Given the description of an element on the screen output the (x, y) to click on. 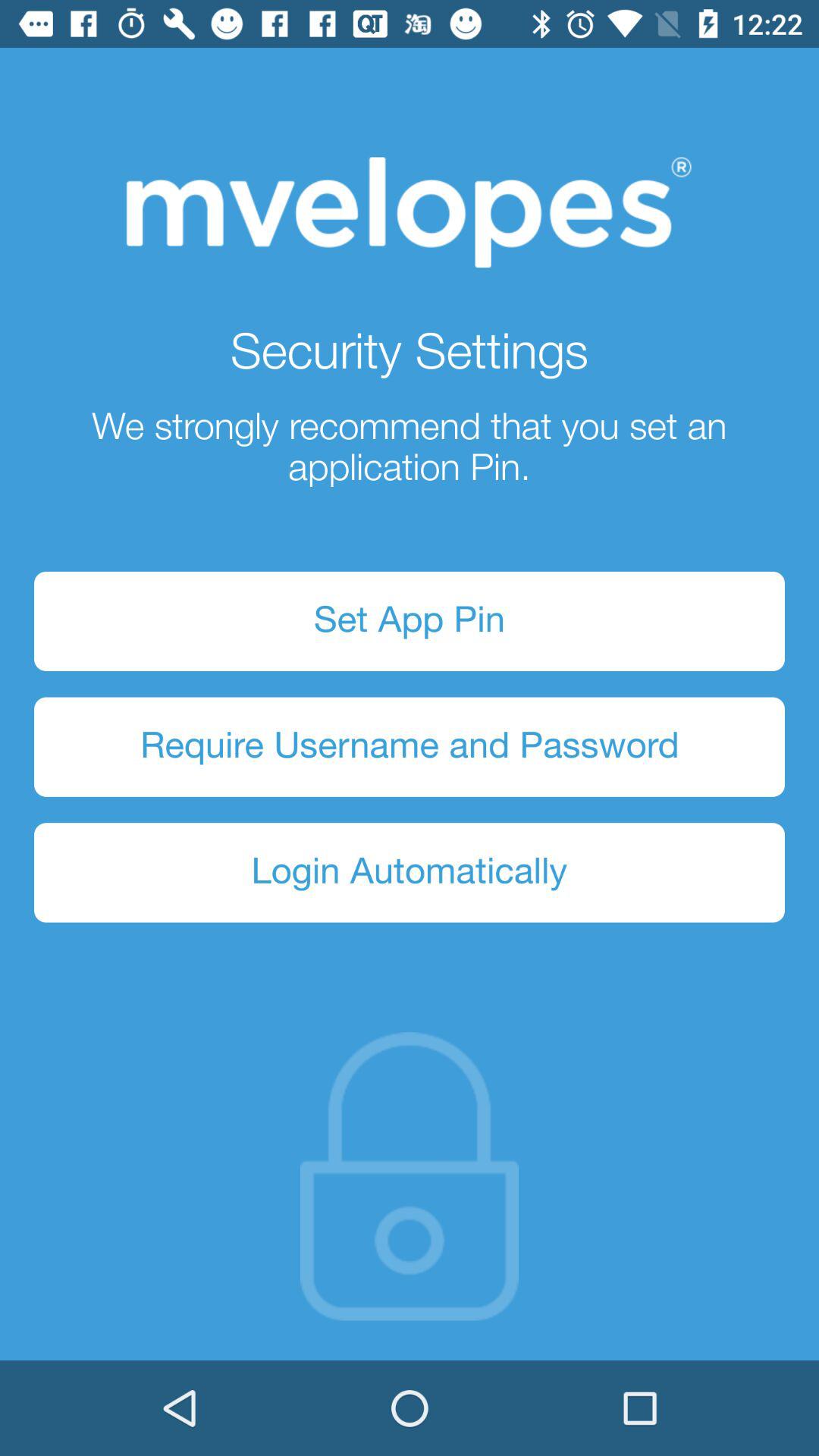
press icon below require username and item (409, 872)
